Given the description of an element on the screen output the (x, y) to click on. 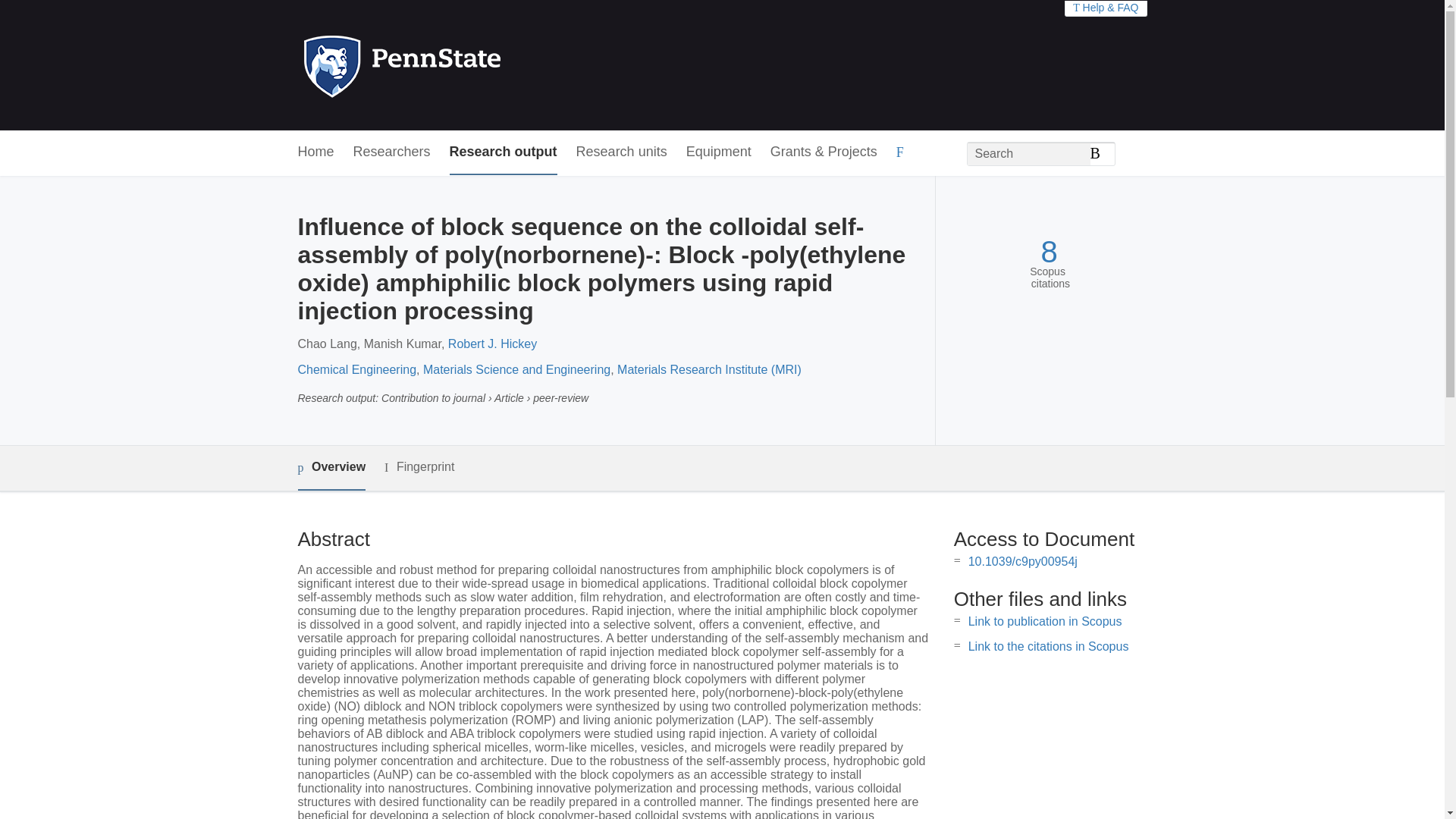
Materials Science and Engineering (516, 369)
Link to the citations in Scopus (1048, 645)
Equipment (718, 152)
Penn State Home (467, 65)
Overview (331, 467)
Fingerprint (419, 466)
Robert J. Hickey (492, 343)
8 (1049, 252)
Chemical Engineering (356, 369)
Research output (503, 152)
Link to publication in Scopus (1045, 621)
Home (315, 152)
Research units (621, 152)
Researchers (391, 152)
